Given the description of an element on the screen output the (x, y) to click on. 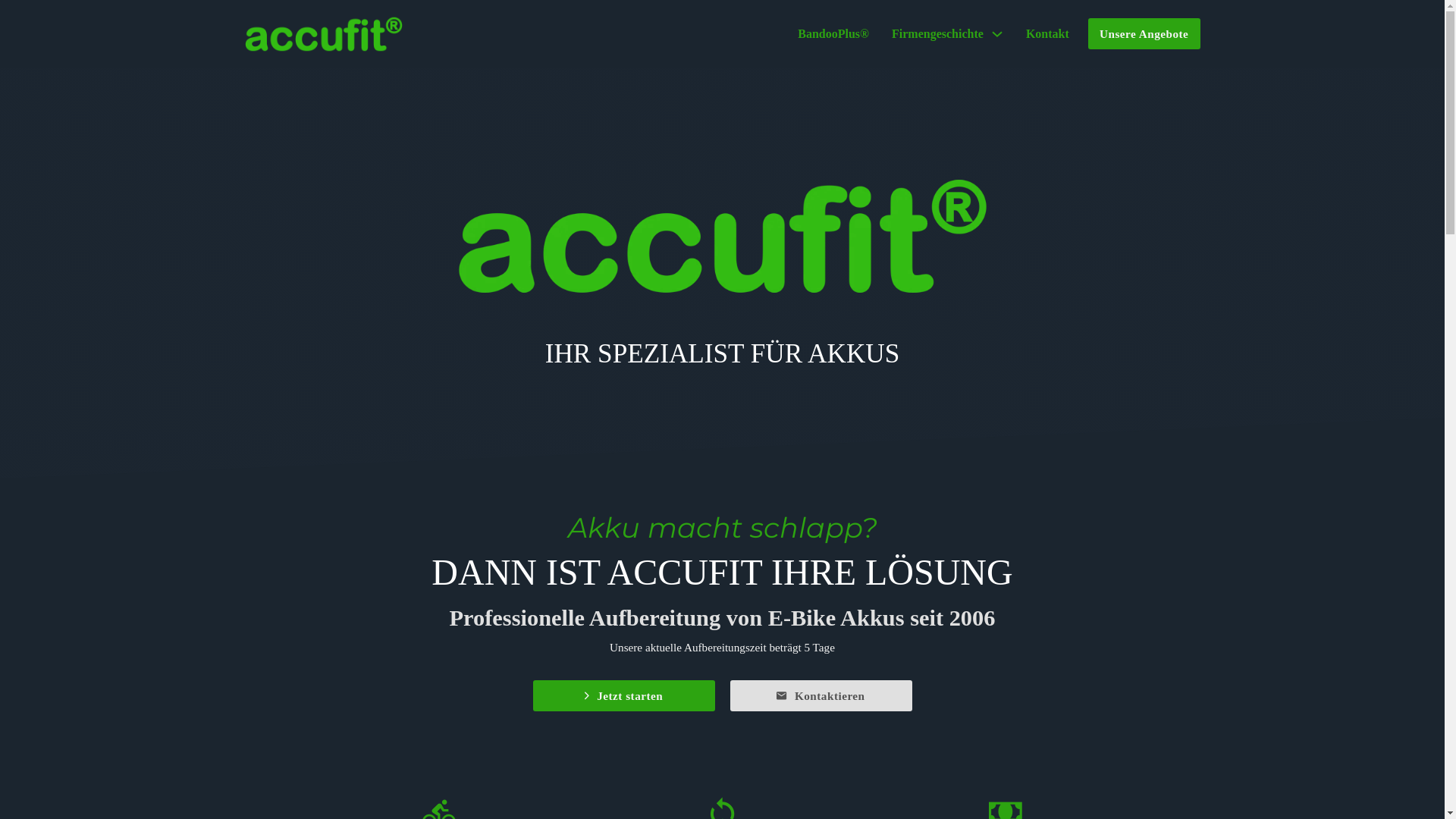
Kontakt Element type: text (1047, 33)
Jetzt starten Element type: text (623, 695)
Unsere Angebote Element type: text (1144, 33)
Firmengeschichte Element type: text (937, 33)
Kontaktieren Element type: text (820, 695)
